Given the description of an element on the screen output the (x, y) to click on. 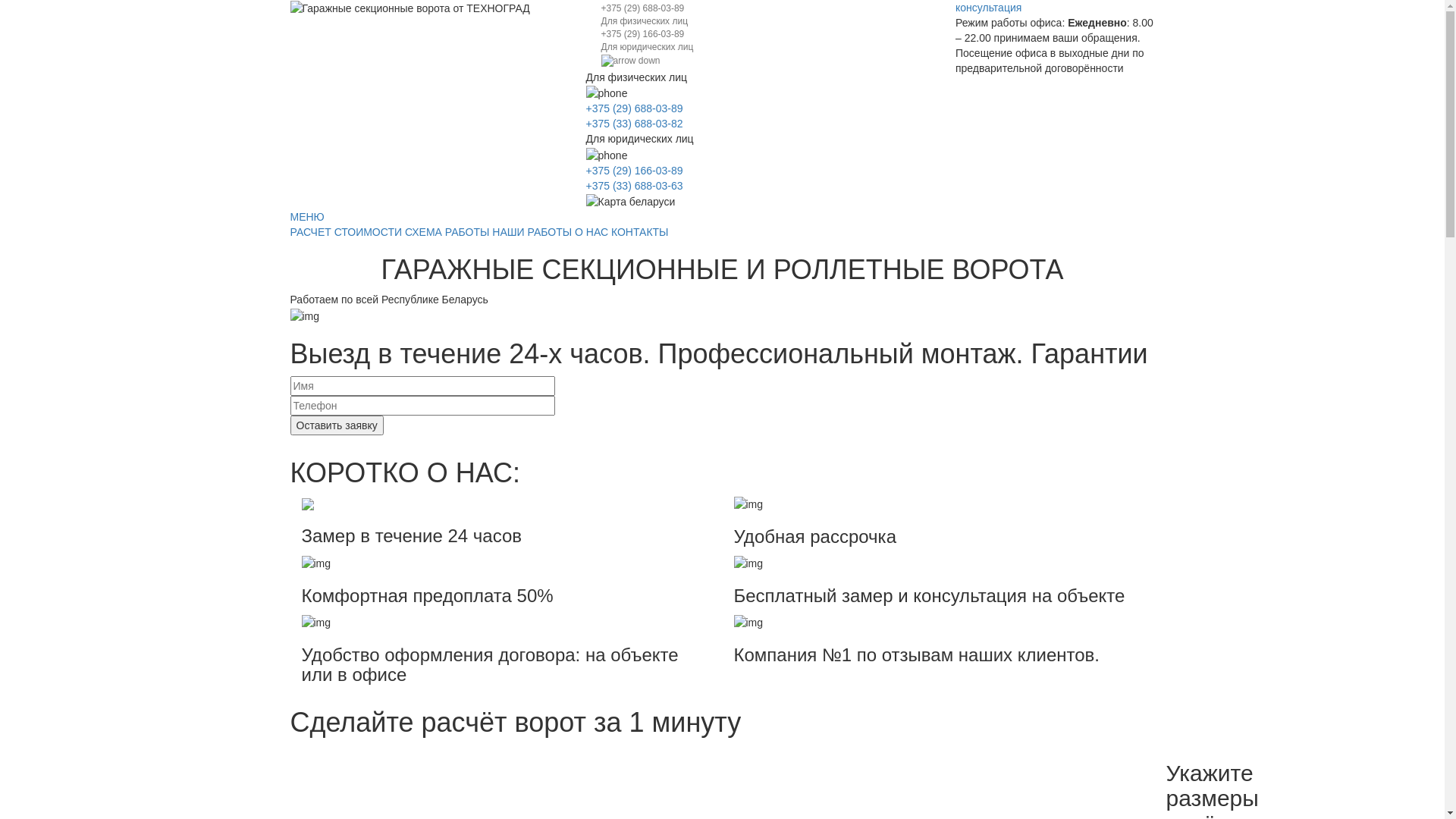
+375 (33) 688-03-82 Element type: text (633, 123)
+375 (29) 688-03-89 Element type: text (633, 108)
+375 (33) 688-03-63 Element type: text (633, 185)
+375 (29) 166-03-89 Element type: text (633, 170)
